Given the description of an element on the screen output the (x, y) to click on. 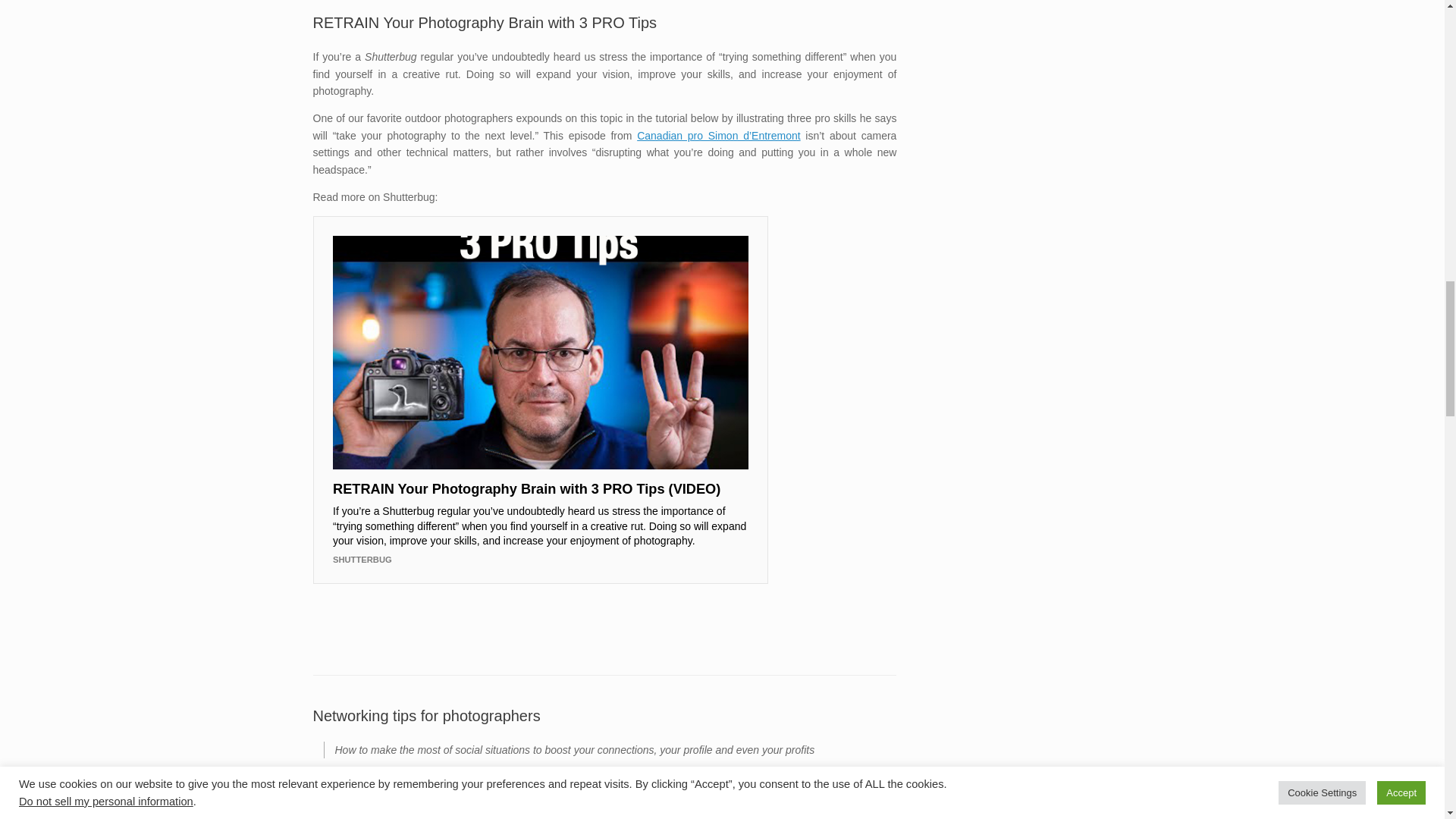
Networking tips for photographers (426, 715)
Permalink to Networking tips for photographers (426, 715)
Permalink to RETRAIN Your Photography Brain with 3 PRO Tips (484, 22)
RETRAIN Your Photography Brain with 3 PRO Tips (484, 22)
